Given the description of an element on the screen output the (x, y) to click on. 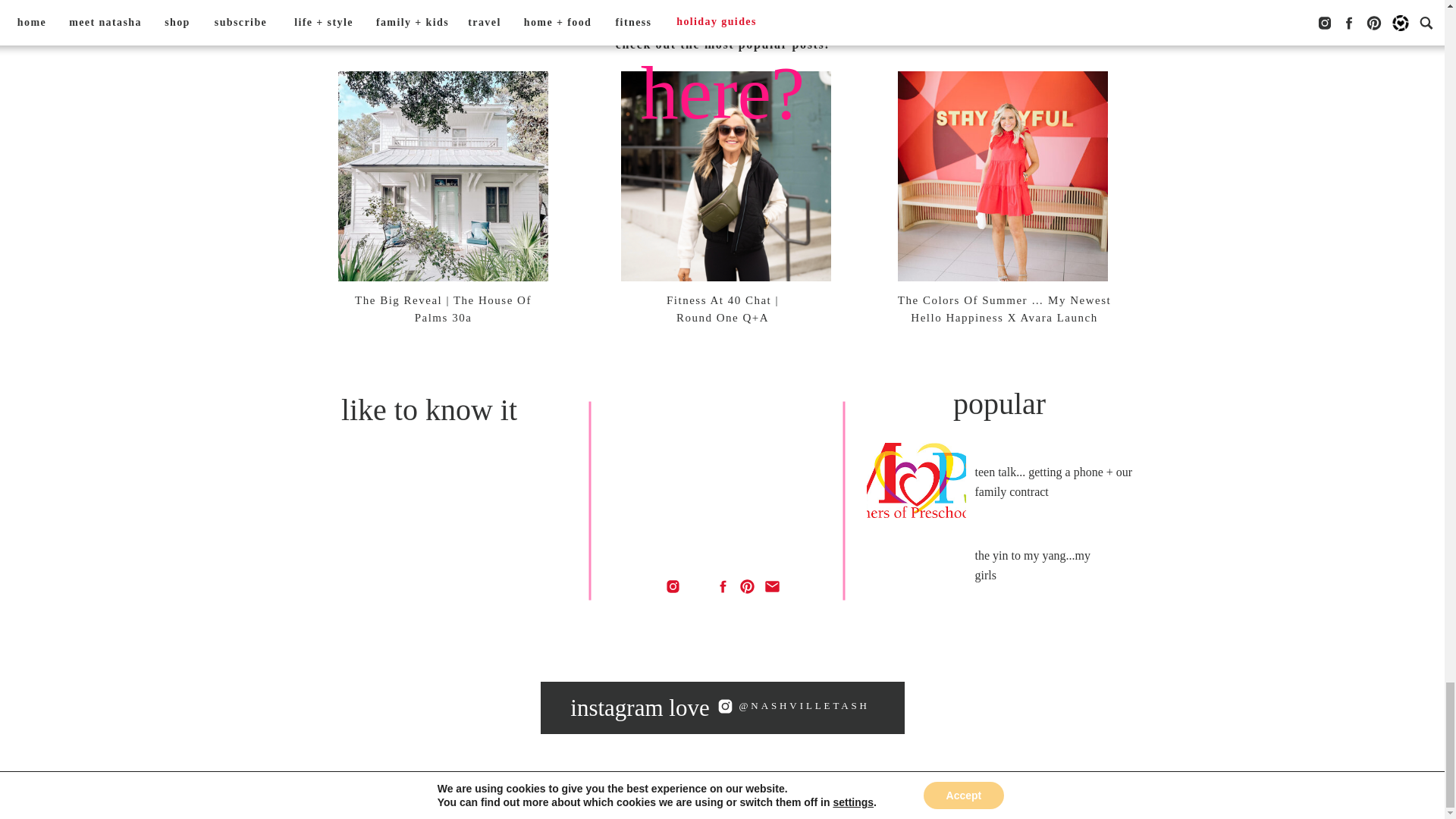
ZLP09876 (959, 706)
ZLP03919 (484, 706)
